Given the description of an element on the screen output the (x, y) to click on. 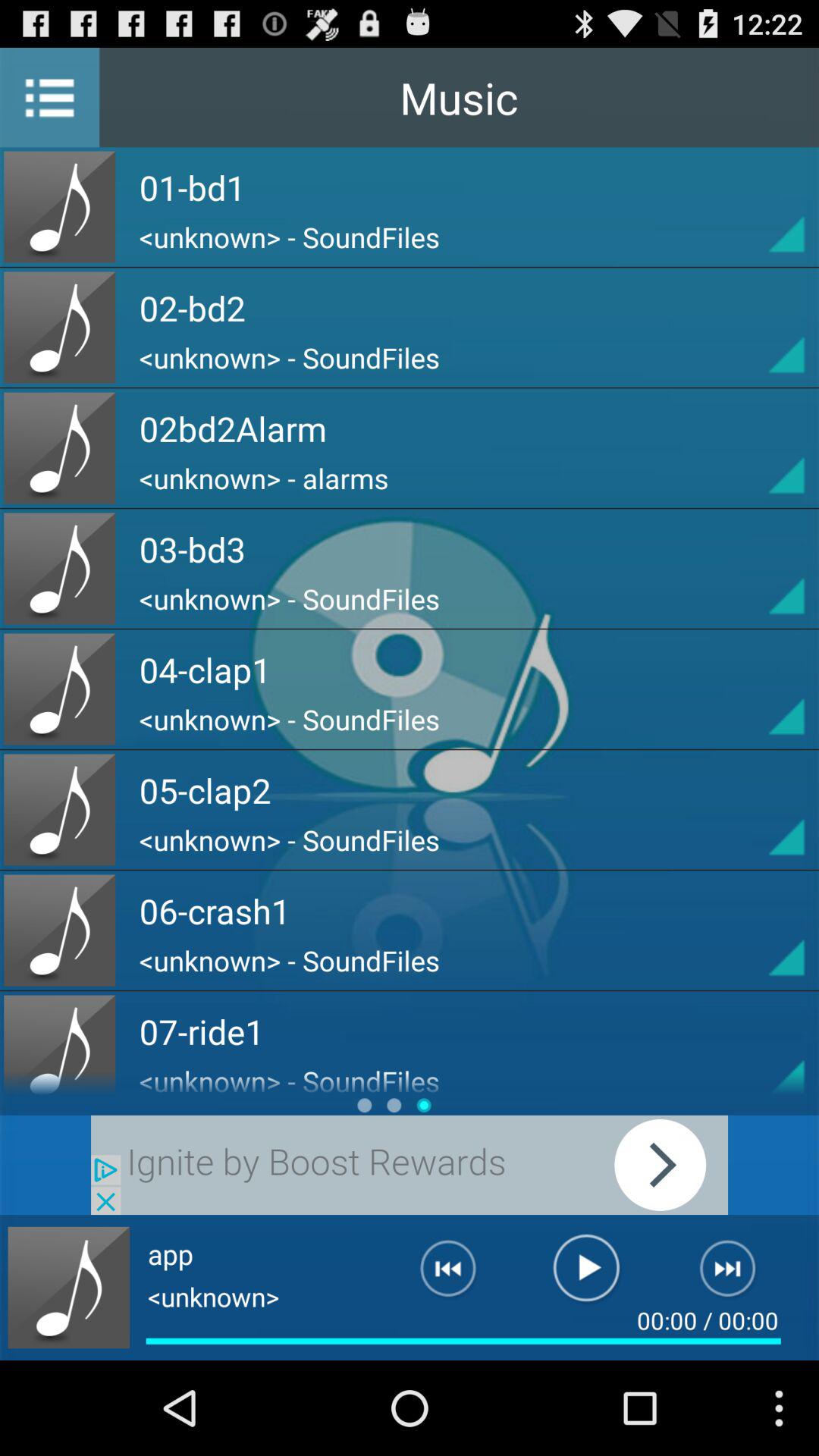
play the song (586, 1274)
